Given the description of an element on the screen output the (x, y) to click on. 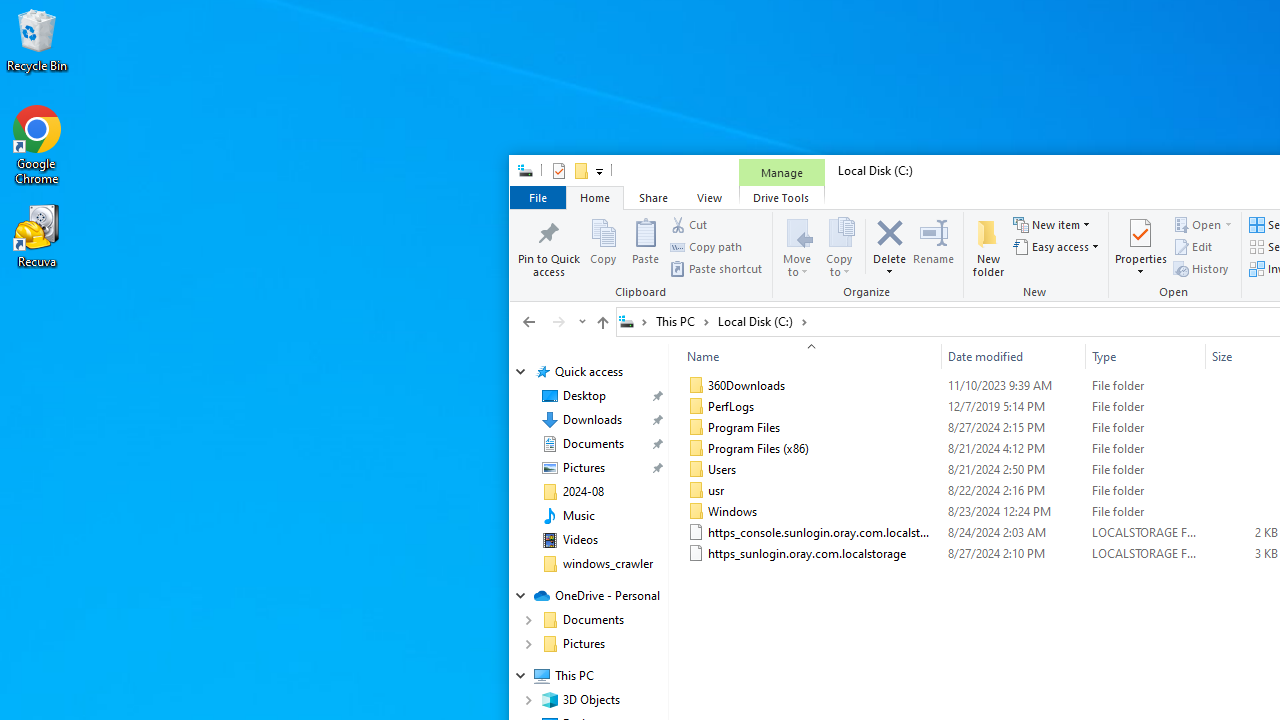
Pin to Quick access (548, 246)
Quick access (588, 371)
Organize (868, 255)
New (1037, 255)
Clipboard (643, 255)
File tab (537, 196)
Delete (890, 265)
History (1200, 268)
View (709, 196)
Date modified (1013, 553)
Open (1228, 224)
Pictures (pinned) (583, 467)
Local Disk (C:) (762, 321)
Share (653, 196)
Paste (645, 246)
